Given the description of an element on the screen output the (x, y) to click on. 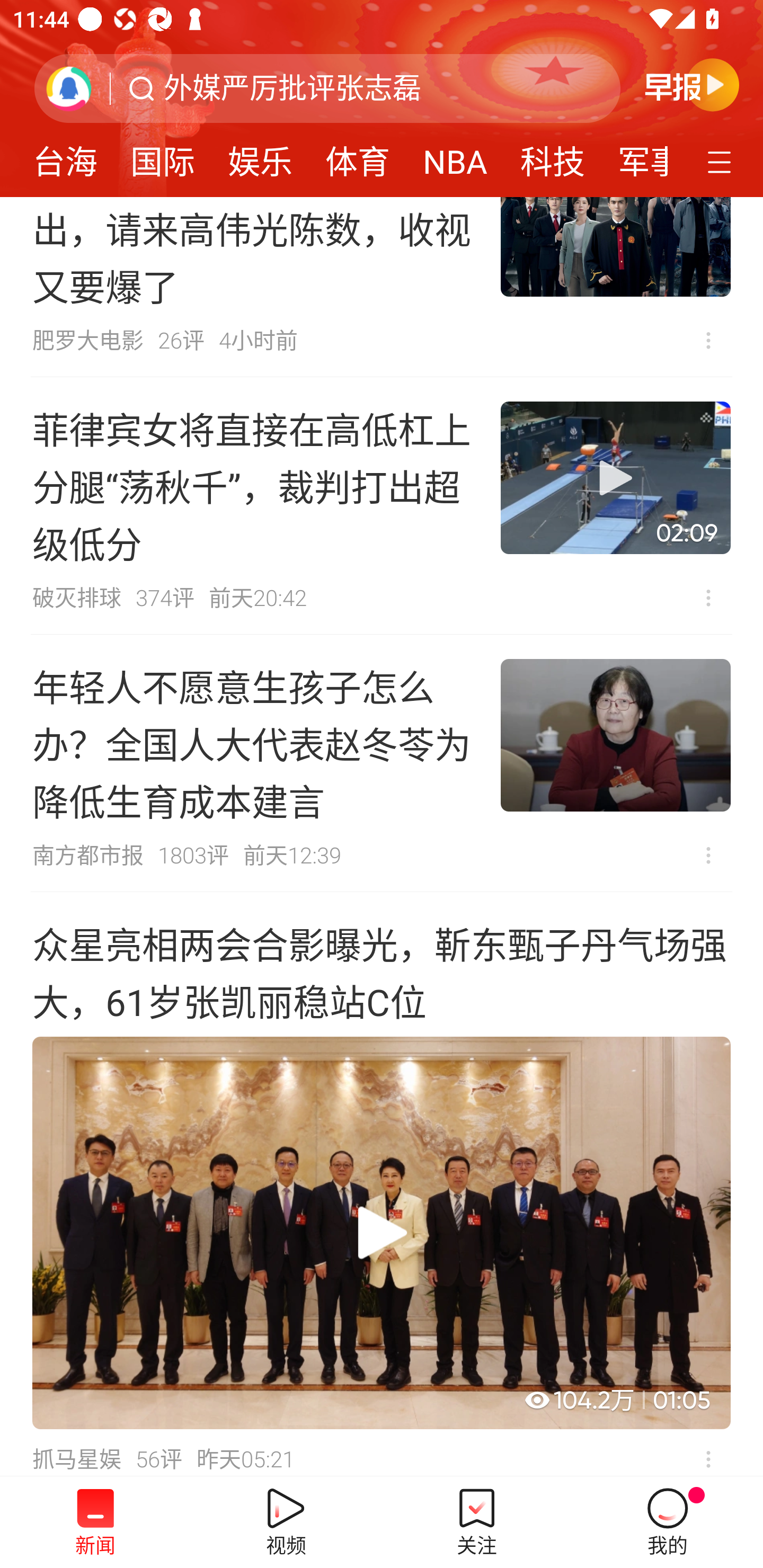
早晚报 (691, 84)
刷新 (68, 88)
外媒严厉批评张志磊 (292, 88)
台海 (64, 155)
国际 (162, 155)
娱乐 (260, 155)
体育 (357, 155)
NBA (454, 155)
科技 (552, 155)
 定制频道 (721, 160)
央视一套40集大剧今晚播出，请来高伟光陈数，收视又要爆了 肥罗大电影 26评 4小时前  不感兴趣 (381, 286)
 不感兴趣 (707, 340)
 不感兴趣 (707, 597)
 不感兴趣 (707, 855)
 不感兴趣 (707, 1457)
